Given the description of an element on the screen output the (x, y) to click on. 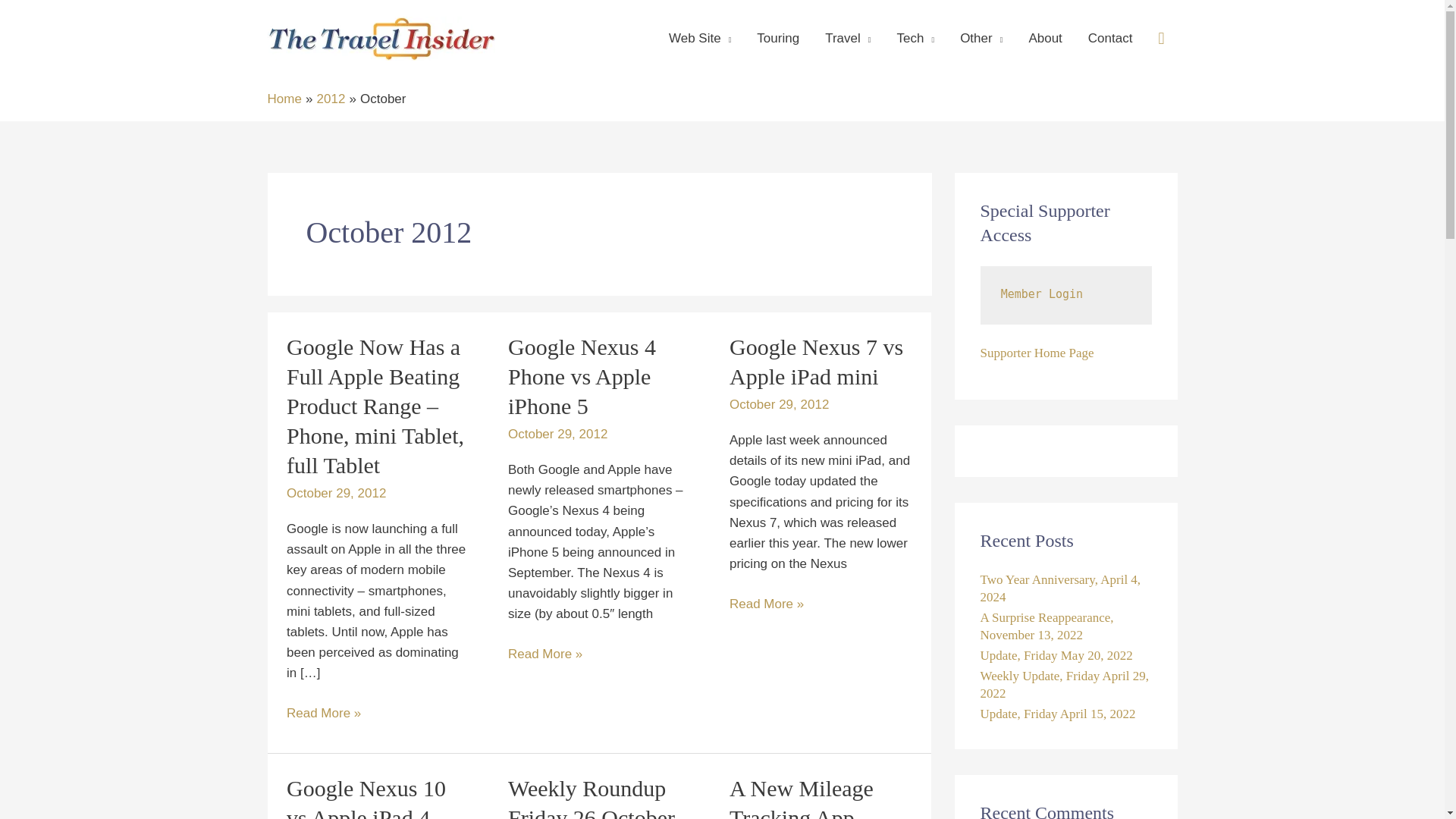
Web Site (700, 38)
Touring (778, 38)
Travel (847, 38)
